Given the description of an element on the screen output the (x, y) to click on. 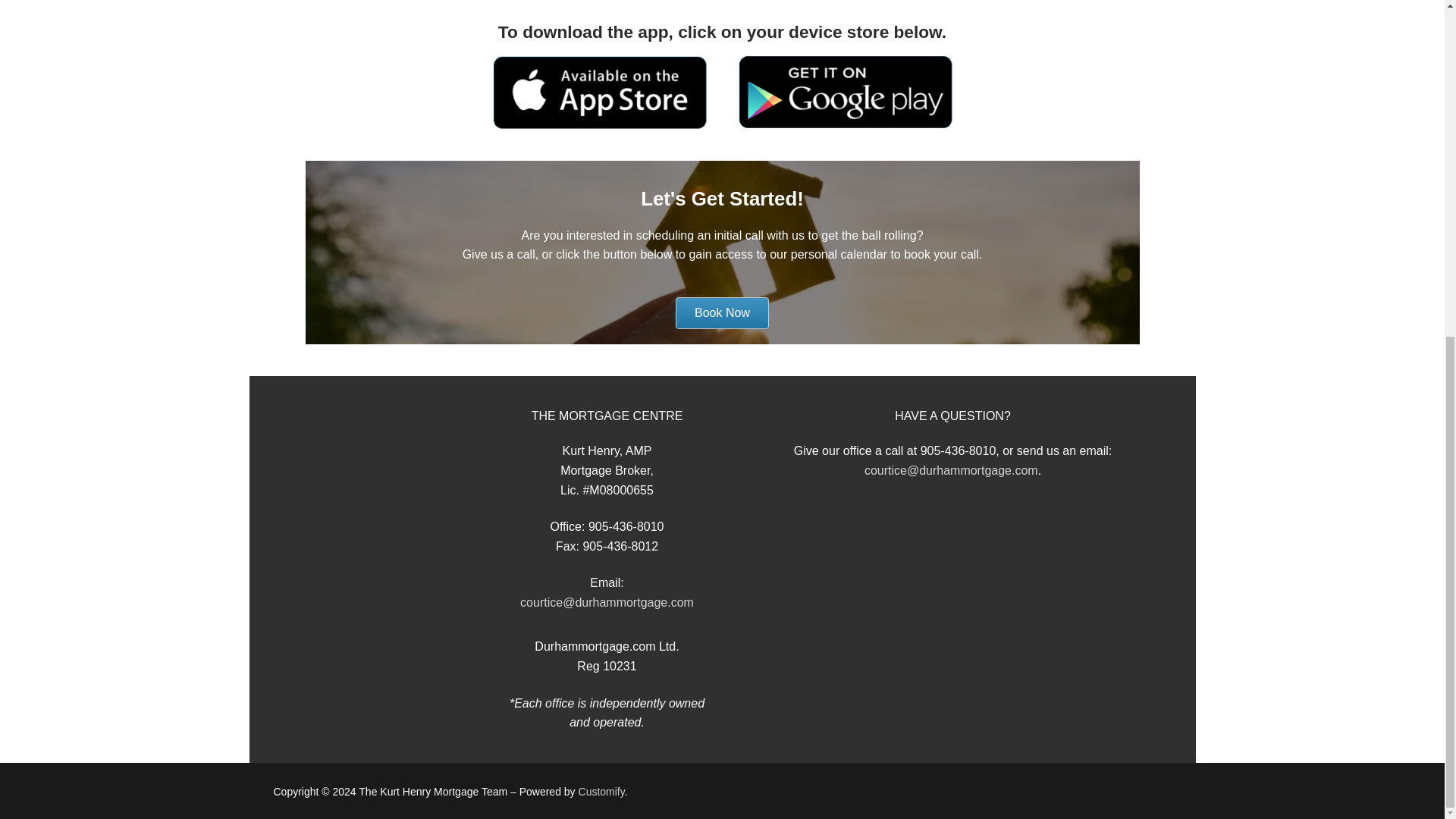
Customify (601, 791)
Book Now (721, 313)
Google Play (844, 92)
App Store (600, 91)
